Given the description of an element on the screen output the (x, y) to click on. 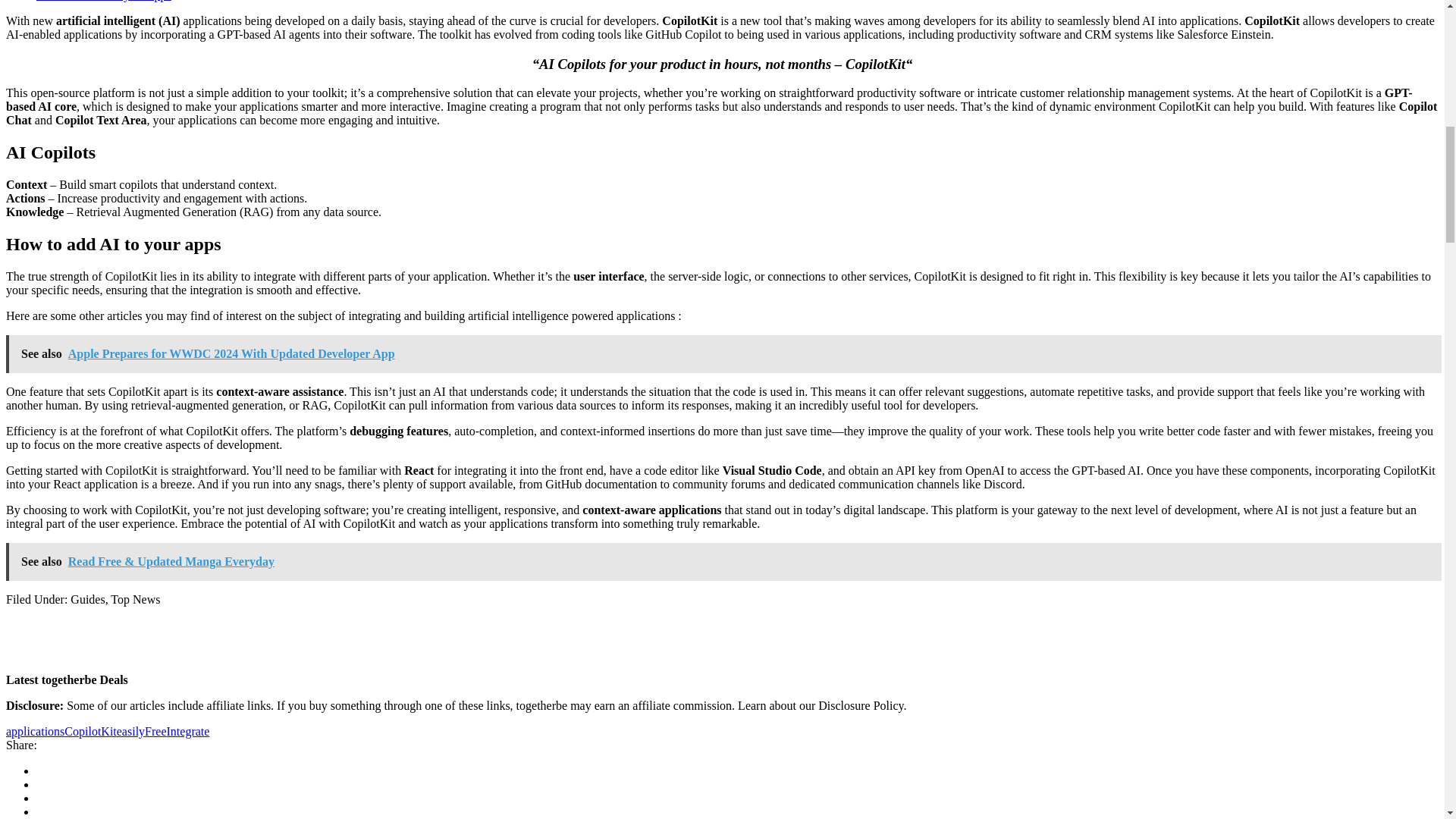
How to add AI to your apps (103, 0)
CopilotKit (90, 730)
applications (34, 730)
